Given the description of an element on the screen output the (x, y) to click on. 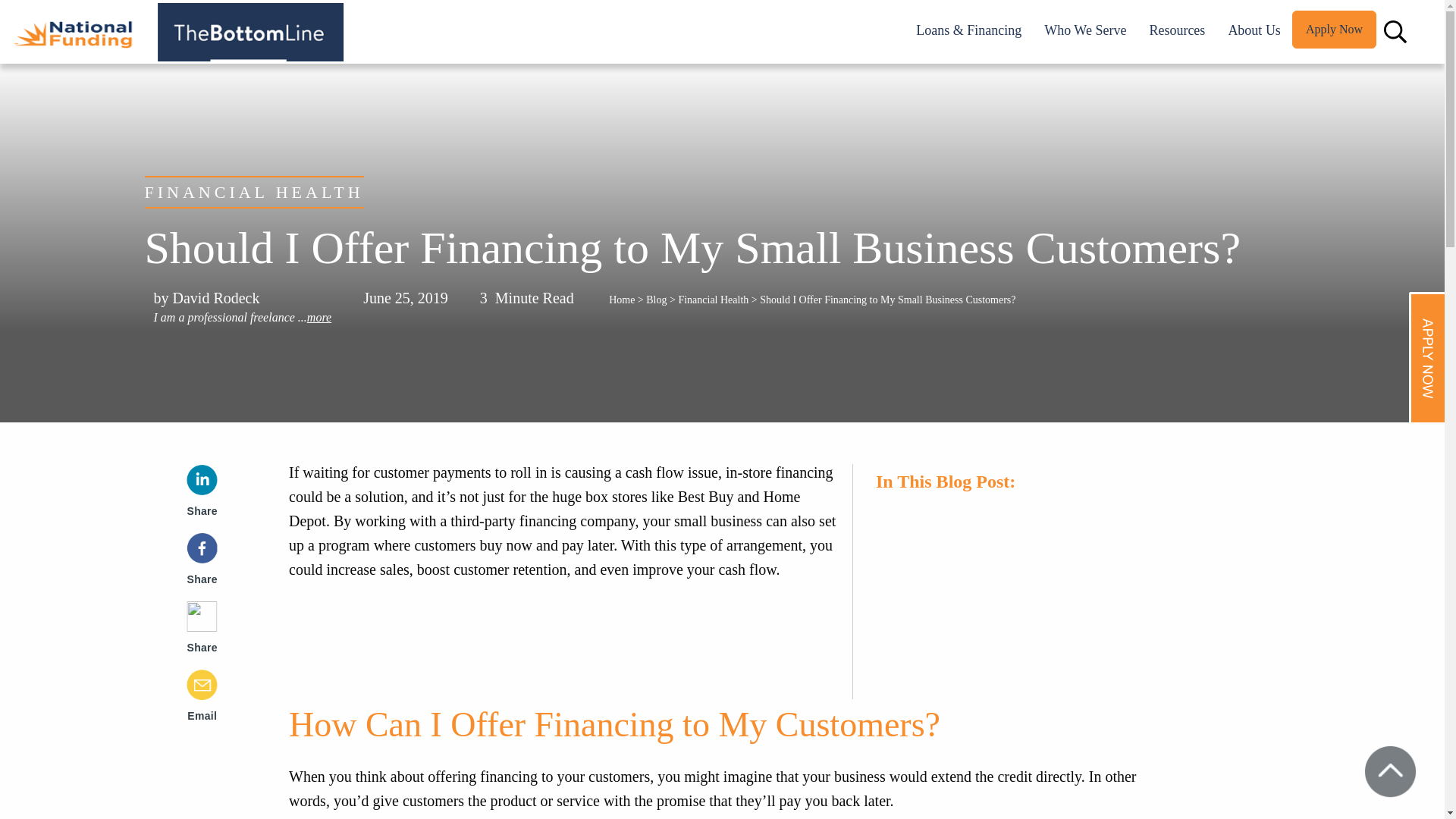
Posts by David Rodeck (216, 297)
About Us (1254, 30)
Who We Serve (1084, 30)
Resources (1176, 30)
